Given the description of an element on the screen output the (x, y) to click on. 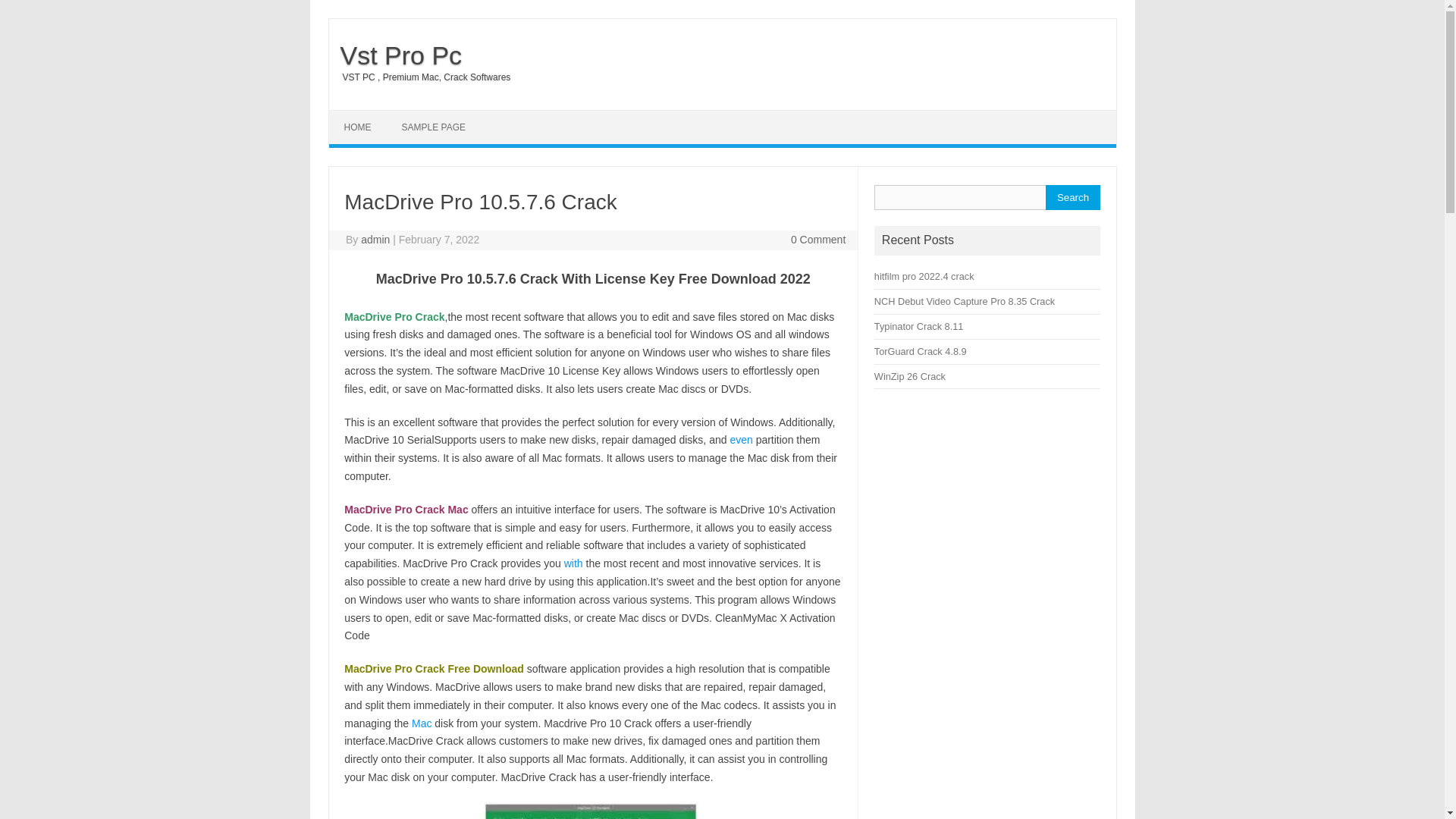
Skip to content (363, 114)
HOME (358, 127)
hitfilm pro 2022.4 crack (924, 276)
Typinator Crack 8.11 (919, 326)
VST PC , Premium Mac, Crack Softwares (420, 77)
Mac (421, 723)
NCH Debut Video Capture Pro 8.35 Crack (964, 301)
0 Comment (817, 239)
SAMPLE PAGE (433, 127)
TorGuard Crack 4.8.9 (920, 351)
Vst Pro Pc (396, 54)
Search (1072, 197)
even (740, 439)
Search (1072, 197)
Skip to content (363, 114)
